Given the description of an element on the screen output the (x, y) to click on. 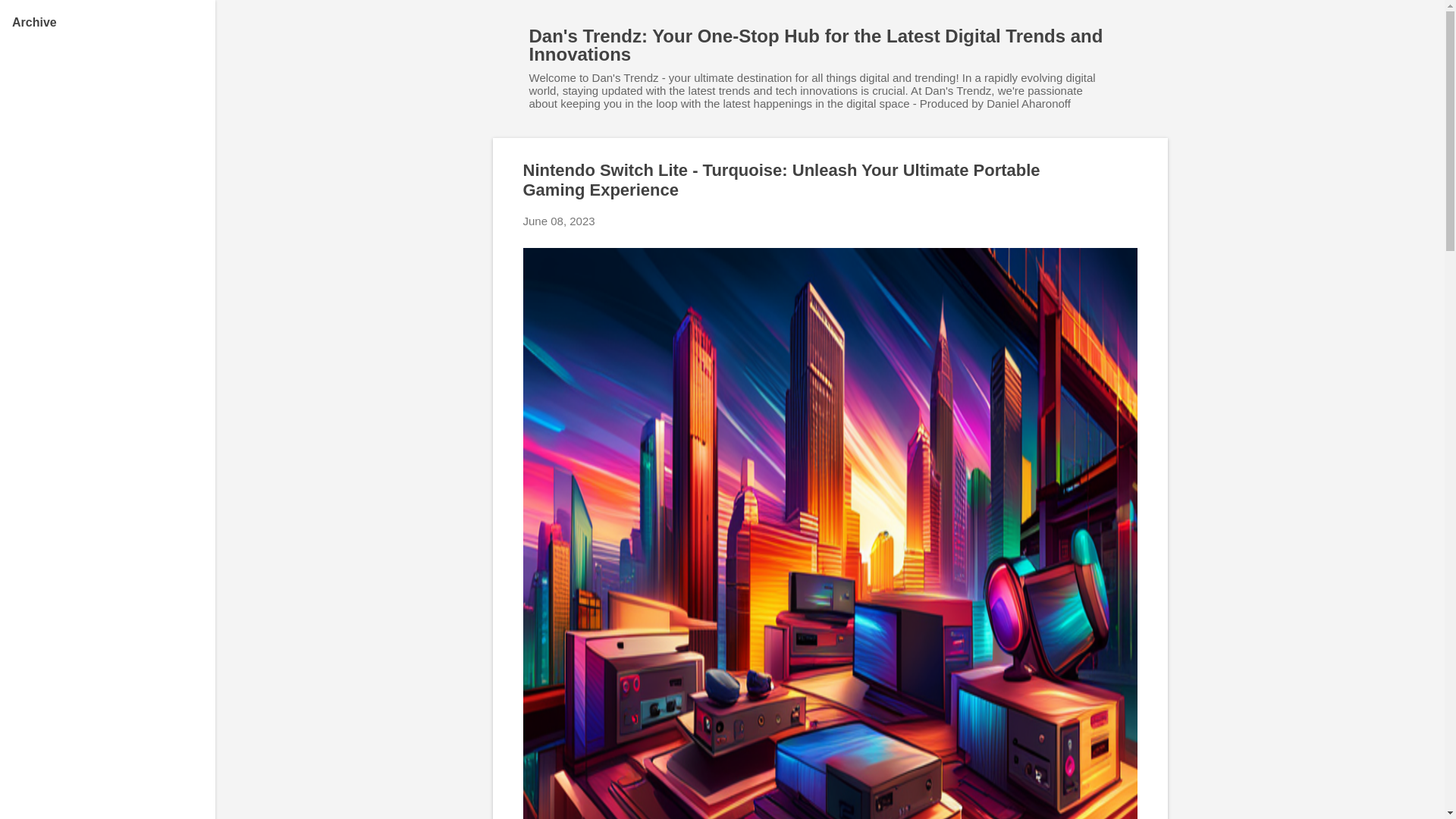
permanent link (558, 220)
June 08, 2023 (558, 220)
